Given the description of an element on the screen output the (x, y) to click on. 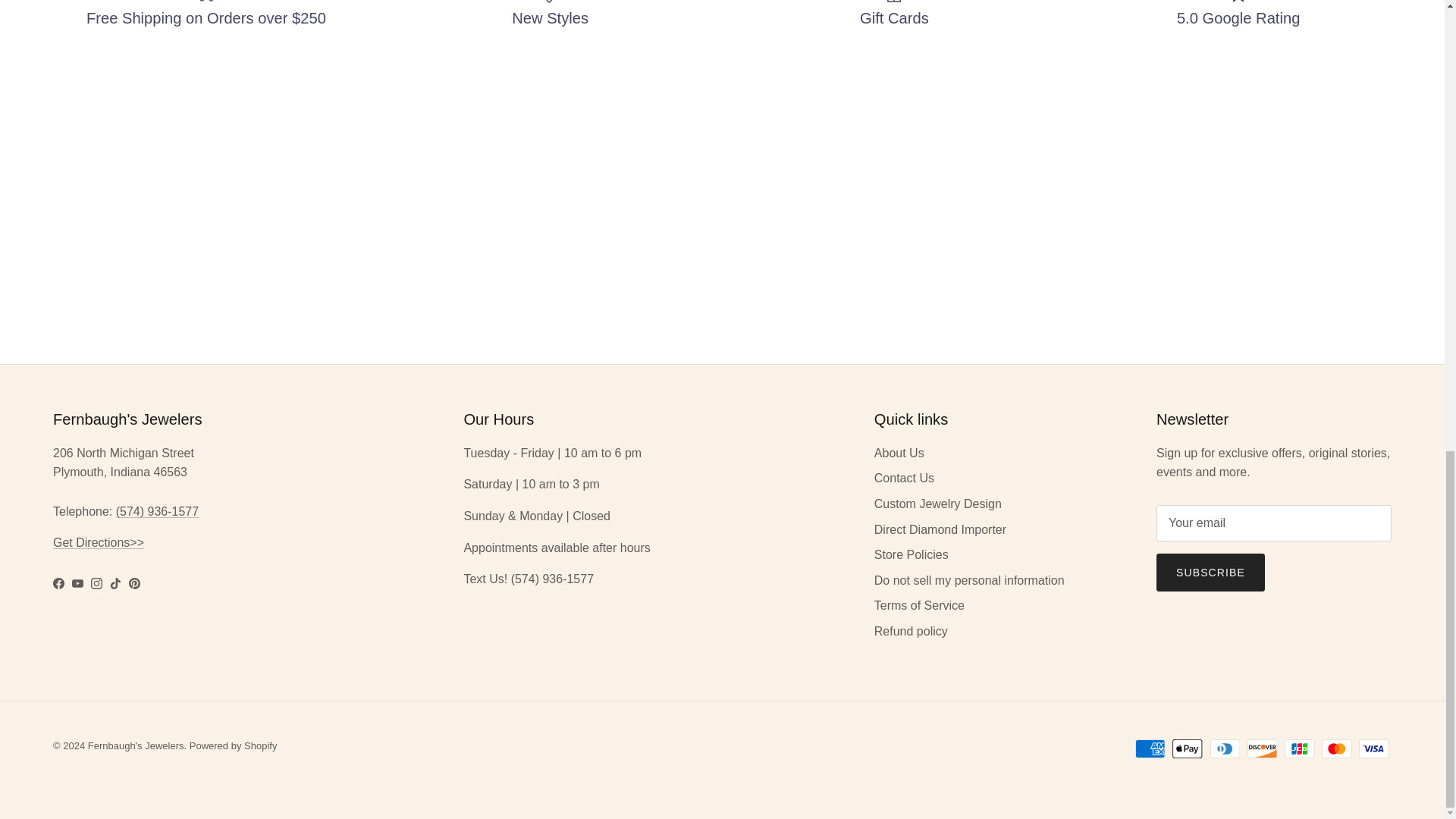
Fernbaugh's Jewelers on Instagram (95, 583)
Fernbaugh's Jewelers on Pinterest (134, 583)
Apple Pay (1187, 748)
tel:15749361577 (157, 511)
American Express (1149, 748)
Fernbaugh's Jewelers on TikTok (115, 583)
Fernbaugh's Jewelers on YouTube (76, 583)
Mastercard (1336, 748)
Fernbaugh's Jewelers on Facebook (58, 583)
Diners Club (1224, 748)
Visa (1373, 748)
Discover (1261, 748)
JCB (1299, 748)
